Given the description of an element on the screen output the (x, y) to click on. 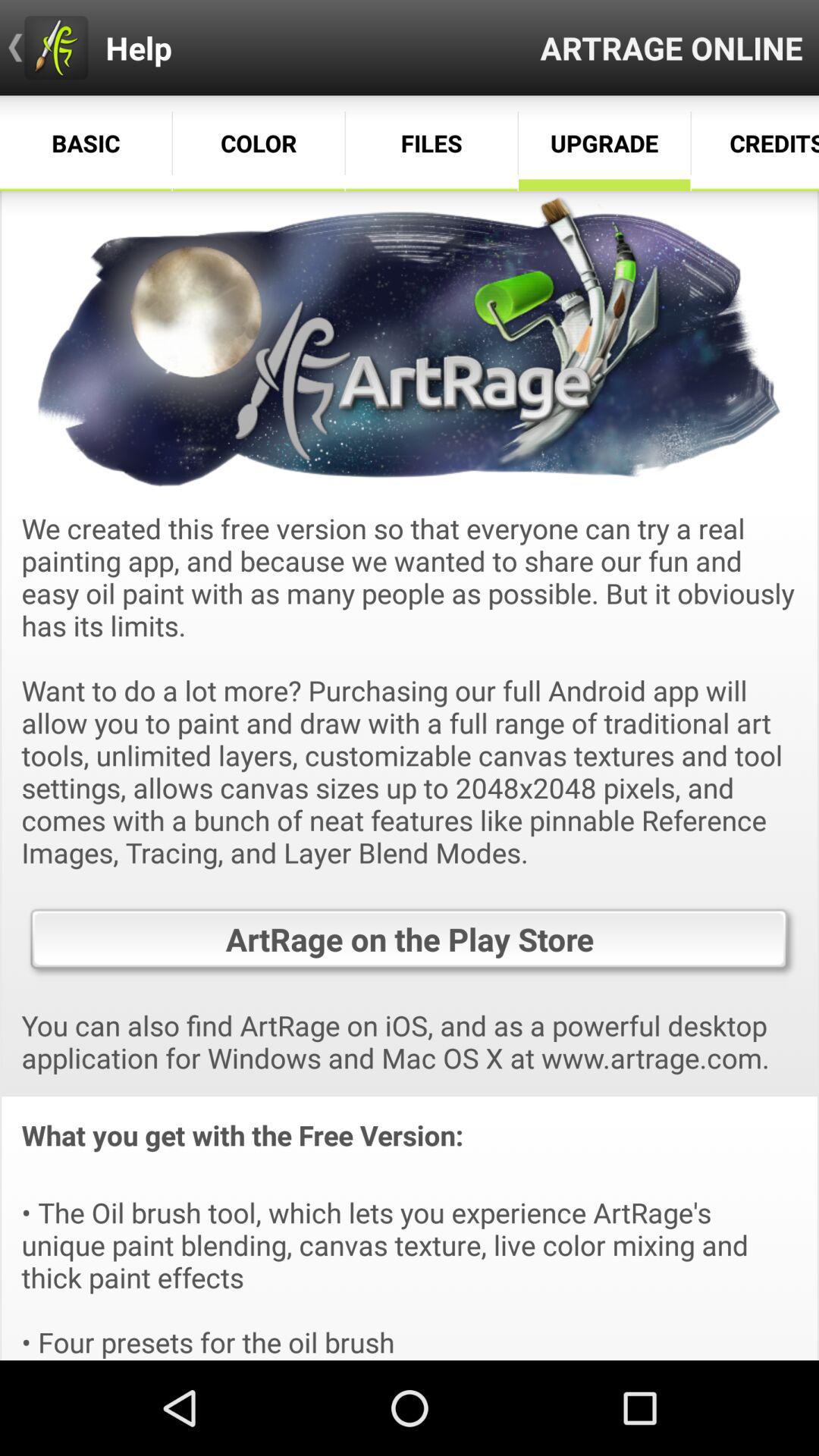
choose item to the right of the help icon (671, 47)
